Given the description of an element on the screen output the (x, y) to click on. 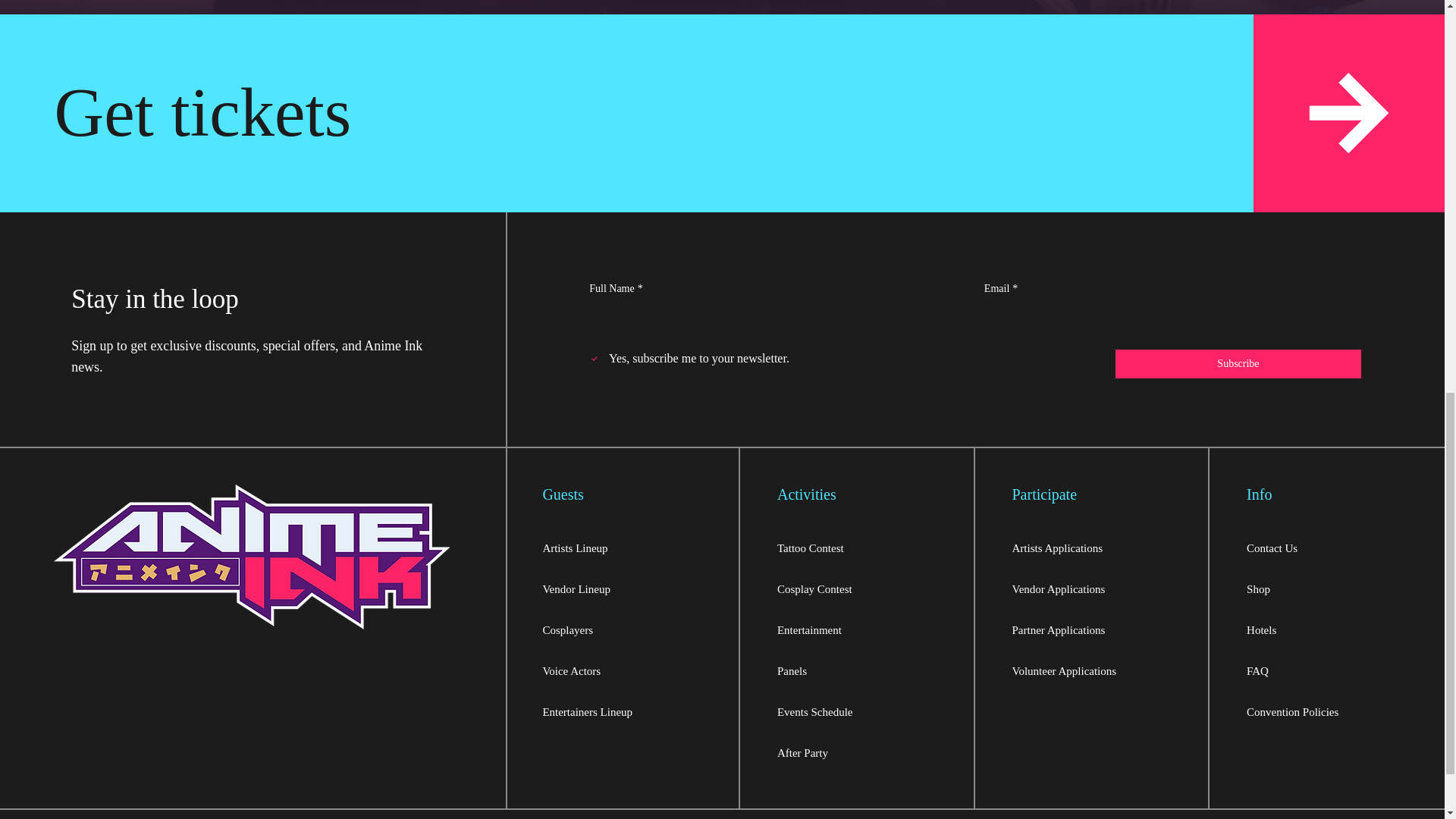
Entertainment (858, 629)
Tattoo Contest (858, 547)
Cosplayers (622, 629)
Entertainers Lineup (622, 711)
Artists Lineup (622, 547)
Subscribe (1237, 363)
Voice Actors (622, 670)
Events Schedule (858, 711)
Vendor Lineup (622, 588)
After Party (858, 752)
